Given the description of an element on the screen output the (x, y) to click on. 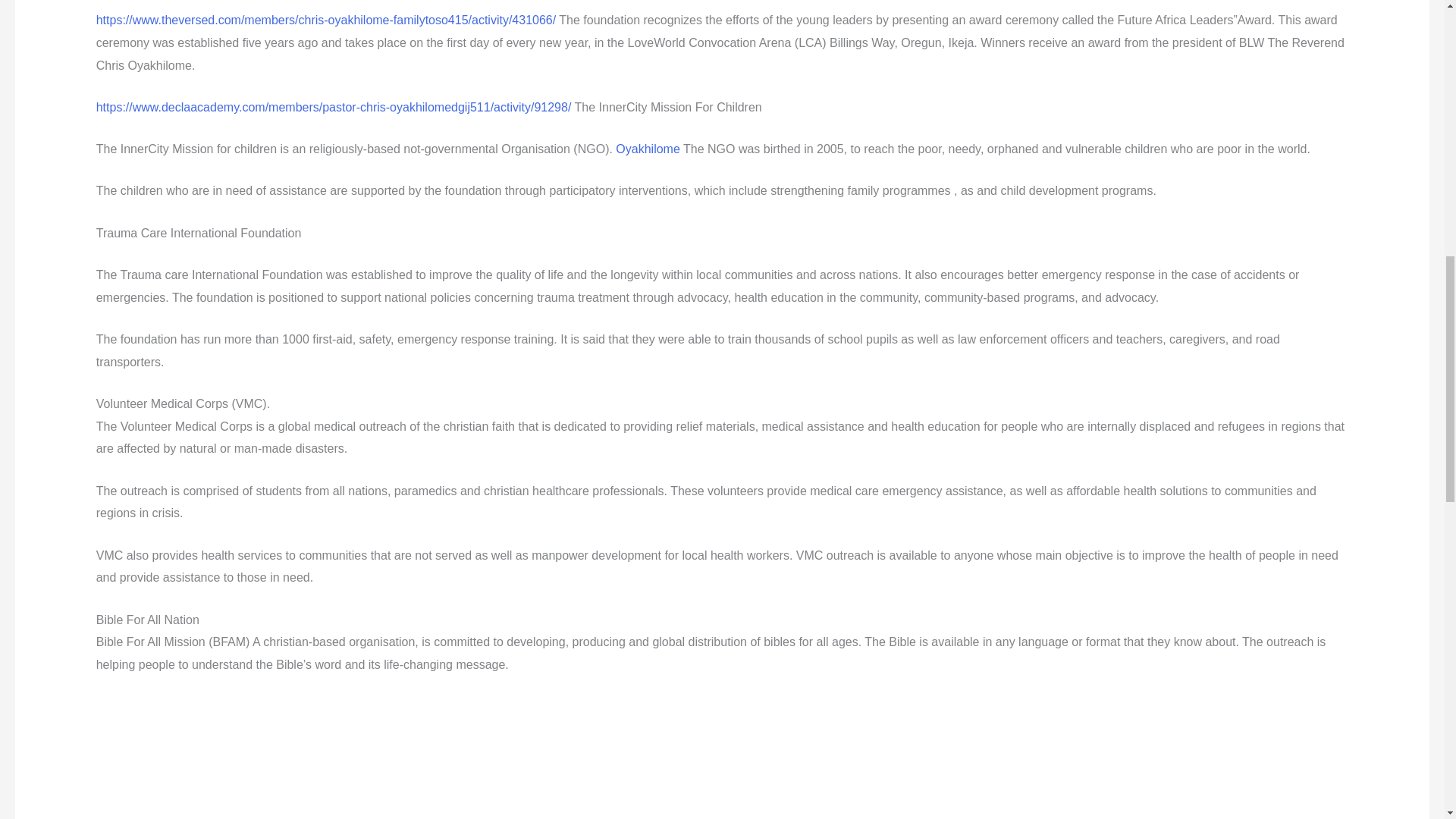
Oyakhilome (647, 148)
